Given the description of an element on the screen output the (x, y) to click on. 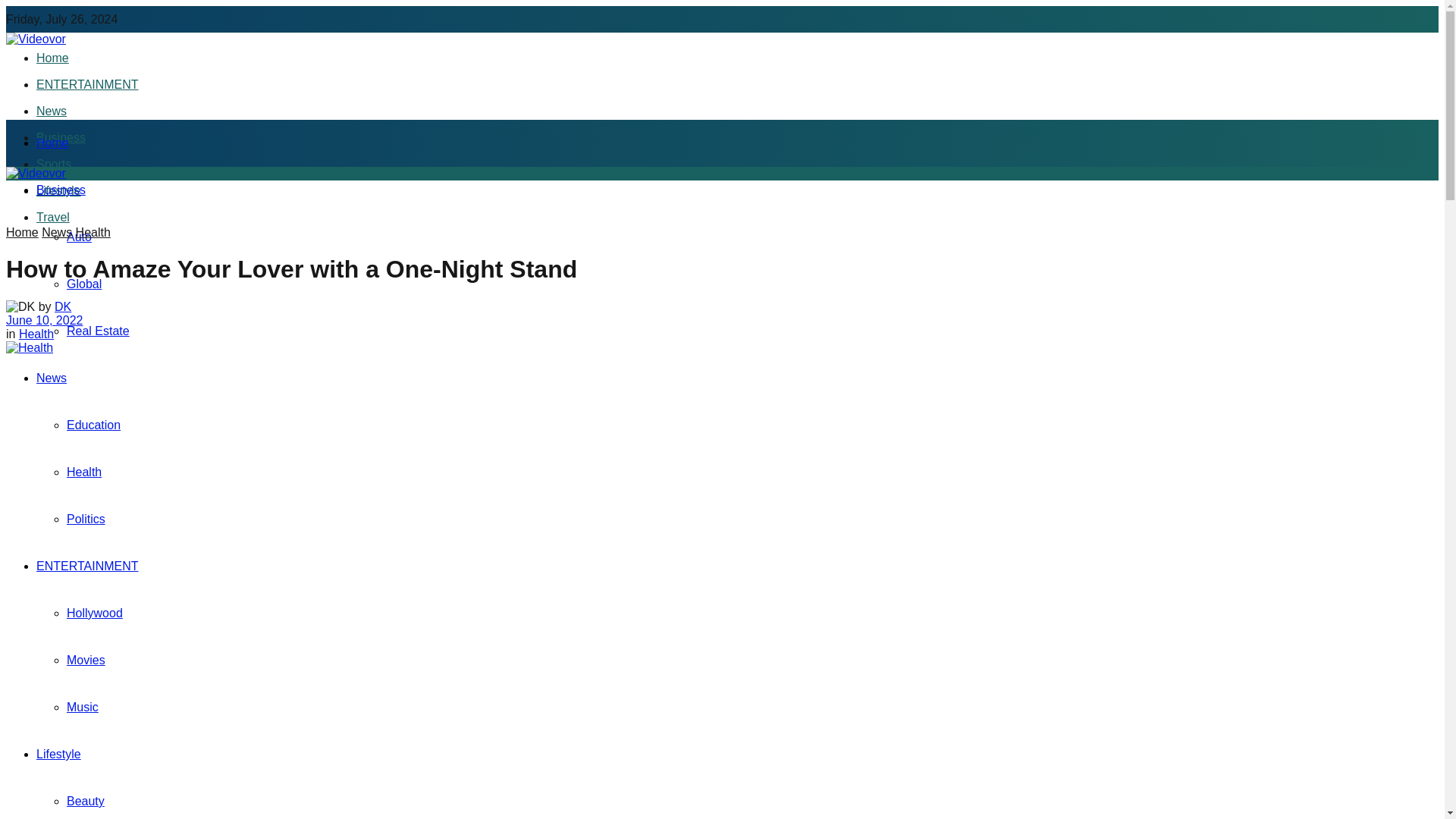
Travel (52, 216)
Business (60, 189)
Global (83, 283)
News (56, 232)
Business (60, 137)
Music (82, 707)
Beauty (85, 800)
Home (22, 232)
News (51, 377)
Lifestyle (58, 190)
Lifestyle (58, 753)
Health (83, 472)
Auto (78, 236)
ENTERTAINMENT (87, 83)
ENTERTAINMENT (87, 565)
